Given the description of an element on the screen output the (x, y) to click on. 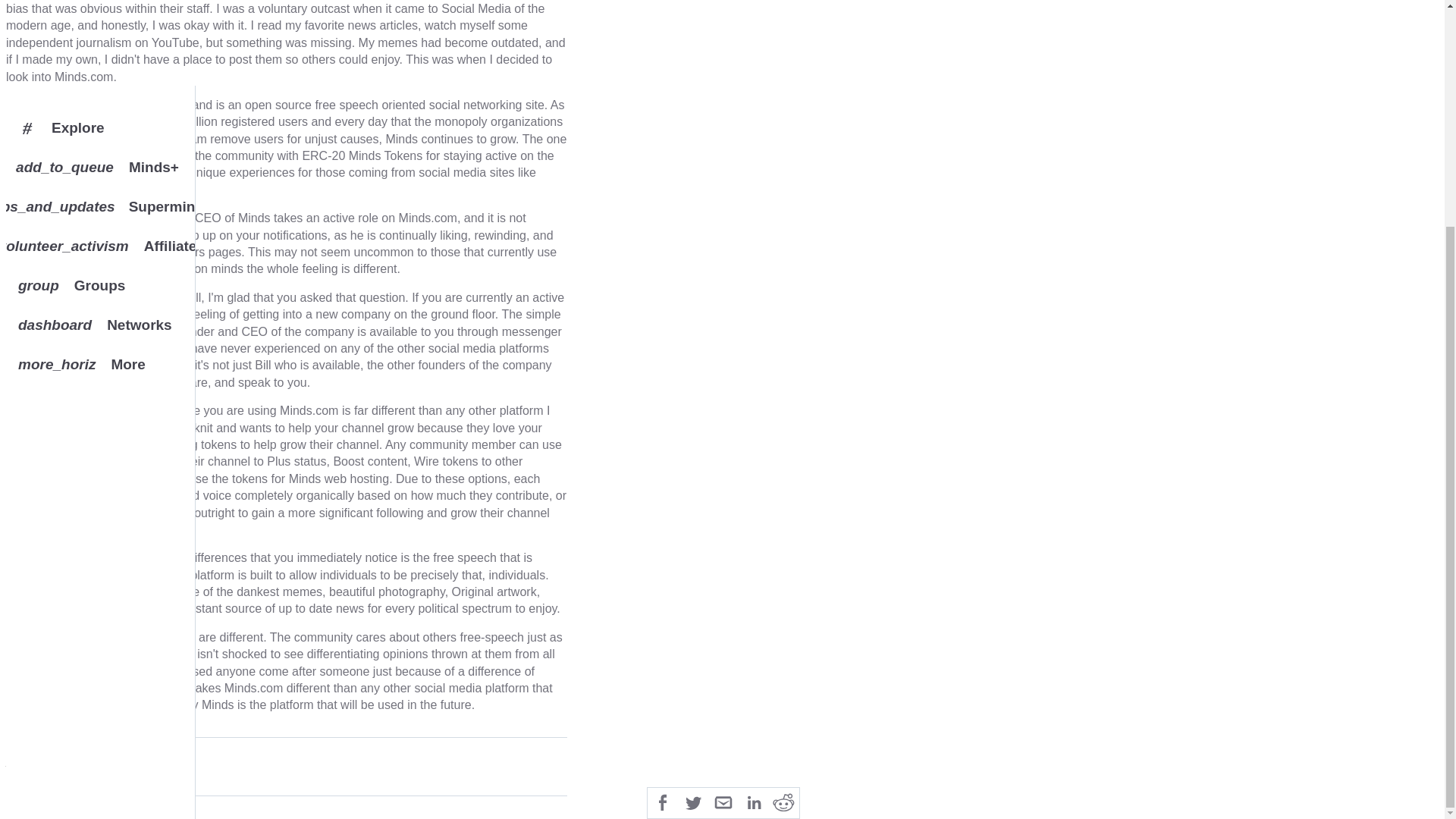
Email (100, 2)
Reddit (722, 510)
Twitter (783, 510)
LinkedIn (100, 24)
Facebook (692, 510)
